Given the description of an element on the screen output the (x, y) to click on. 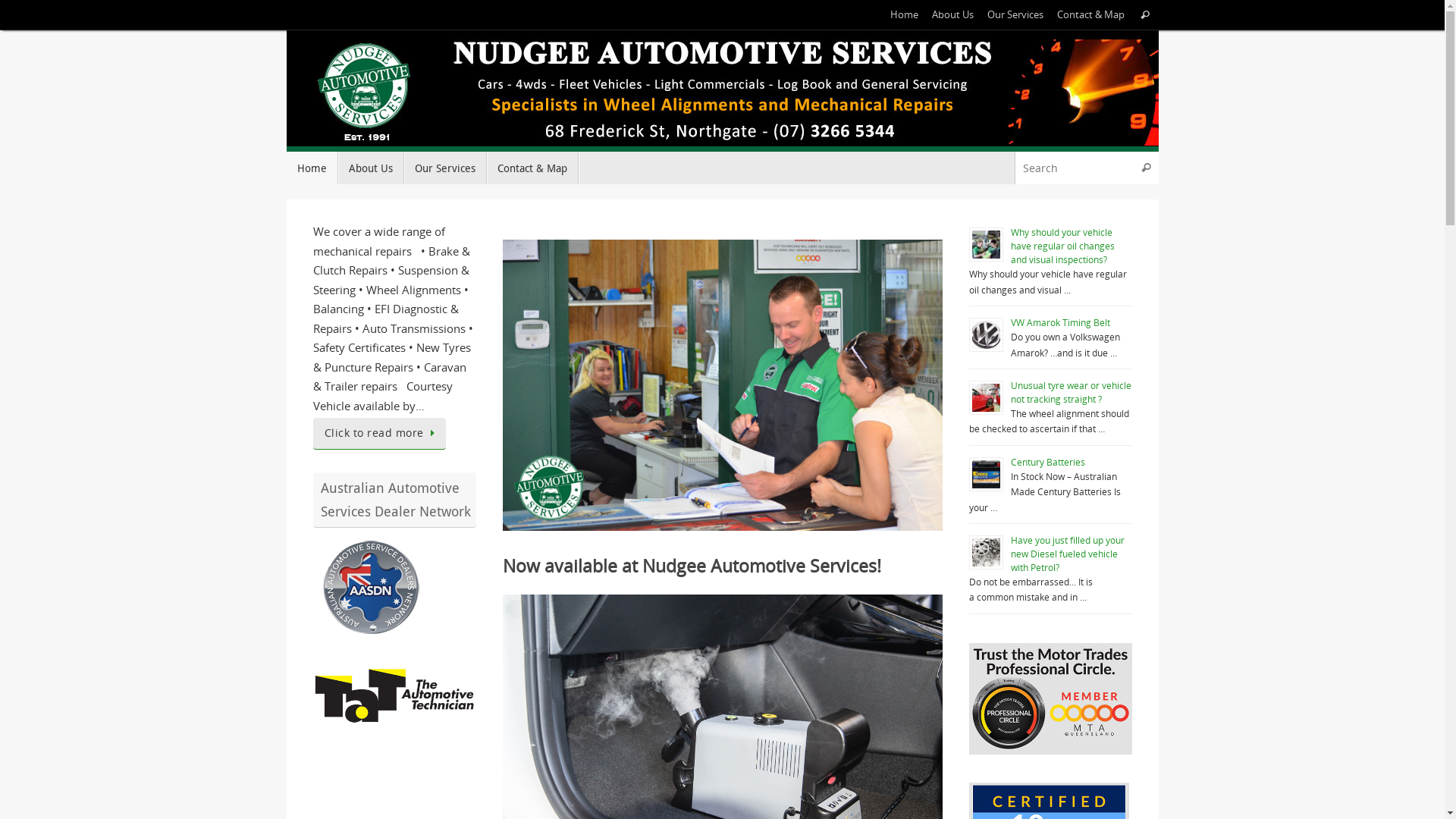
Century Batteries Element type: text (1047, 461)
Our Services Element type: text (444, 167)
Home Element type: text (312, 167)
Contact & Map Element type: text (1090, 15)
Unusual tyre wear or vehicle not tracking straight ? Element type: text (1070, 392)
Click to read more Element type: text (378, 433)
About Us Element type: text (951, 15)
Search Element type: text (1144, 14)
About Us Element type: text (371, 167)
Our Services Element type: text (1015, 15)
Australian Automotive Services Dealer Network Element type: hover (369, 633)
Home Element type: text (904, 15)
Search Element type: text (1146, 167)
Nudgee Automotive Element type: hover (722, 90)
Skip to content Element type: text (285, 174)
Contact & Map Element type: text (532, 167)
VW Amarok Timing Belt Element type: text (1059, 322)
